Given the description of an element on the screen output the (x, y) to click on. 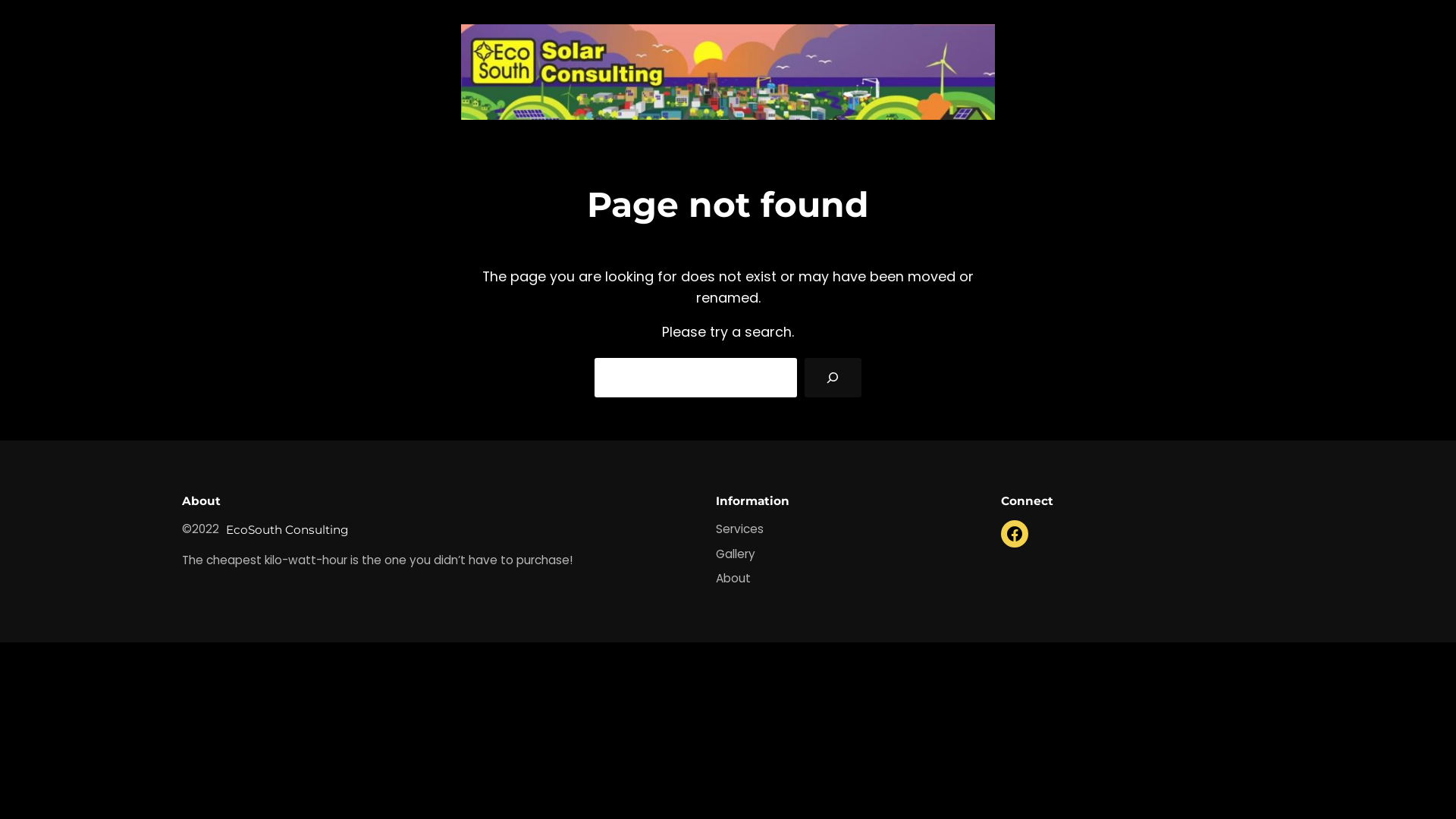
Facebook Element type: text (1014, 533)
Gallery Element type: text (735, 554)
EcoSouth Consulting Element type: text (286, 529)
About Element type: text (732, 578)
Services Element type: text (739, 529)
